Given the description of an element on the screen output the (x, y) to click on. 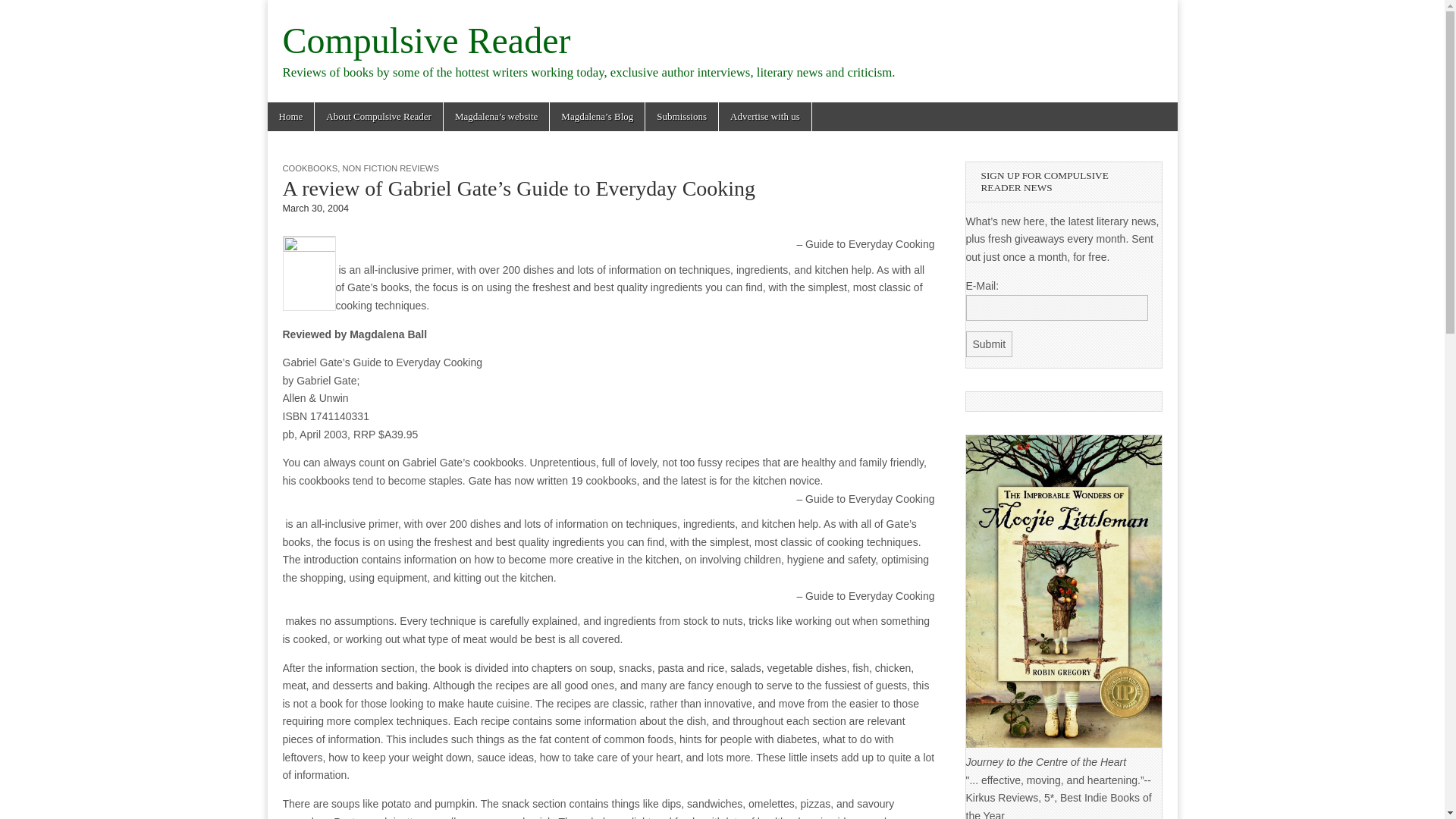
Submit (989, 344)
About Compulsive Reader (378, 116)
NON FICTION REVIEWS (390, 167)
Submissions (681, 116)
Search (23, 12)
Compulsive Reader (426, 40)
Submit (989, 344)
Compulsive Reader (426, 40)
